Given the description of an element on the screen output the (x, y) to click on. 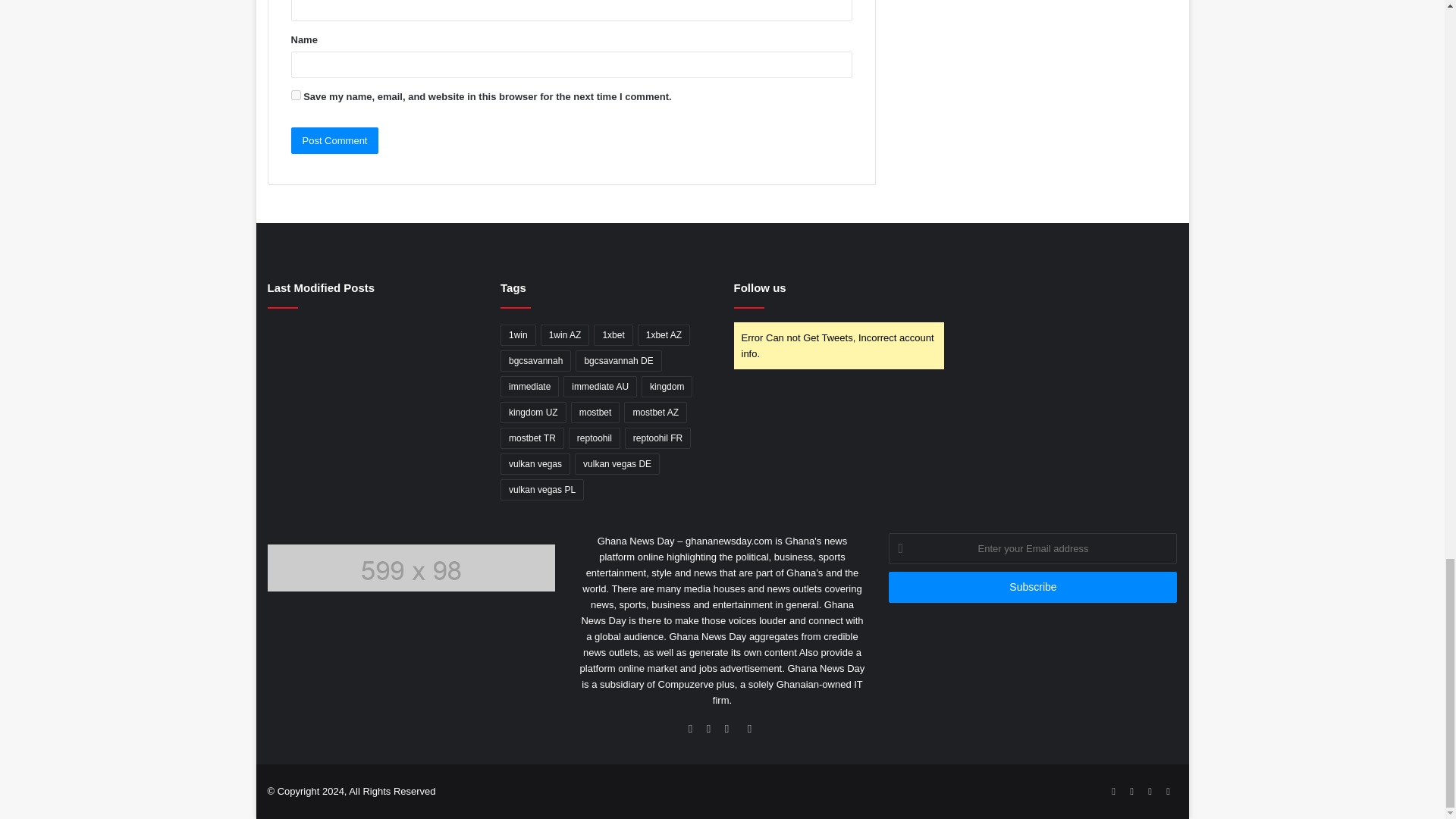
yes (296, 94)
Subscribe (1032, 586)
Post Comment (334, 140)
